Given the description of an element on the screen output the (x, y) to click on. 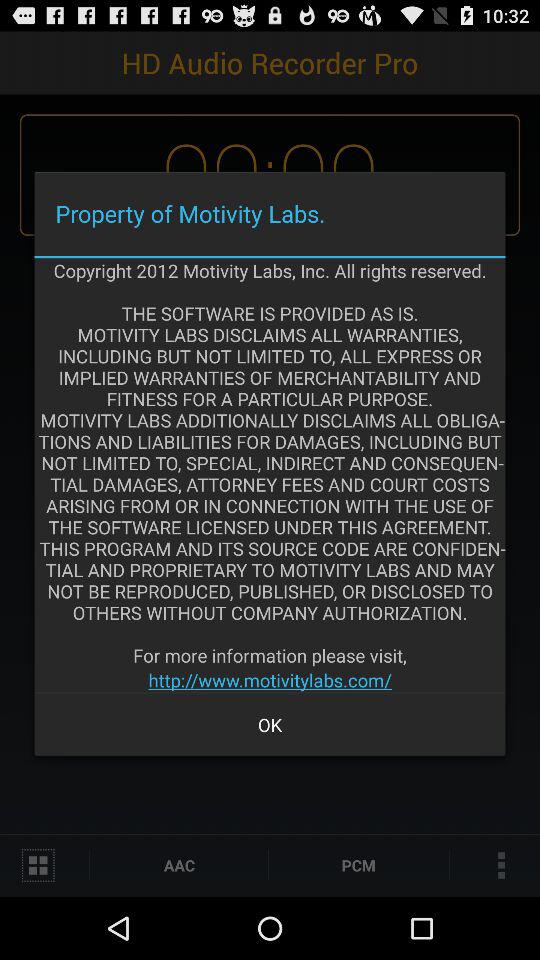
swipe to the http www motivitylabs app (269, 679)
